Given the description of an element on the screen output the (x, y) to click on. 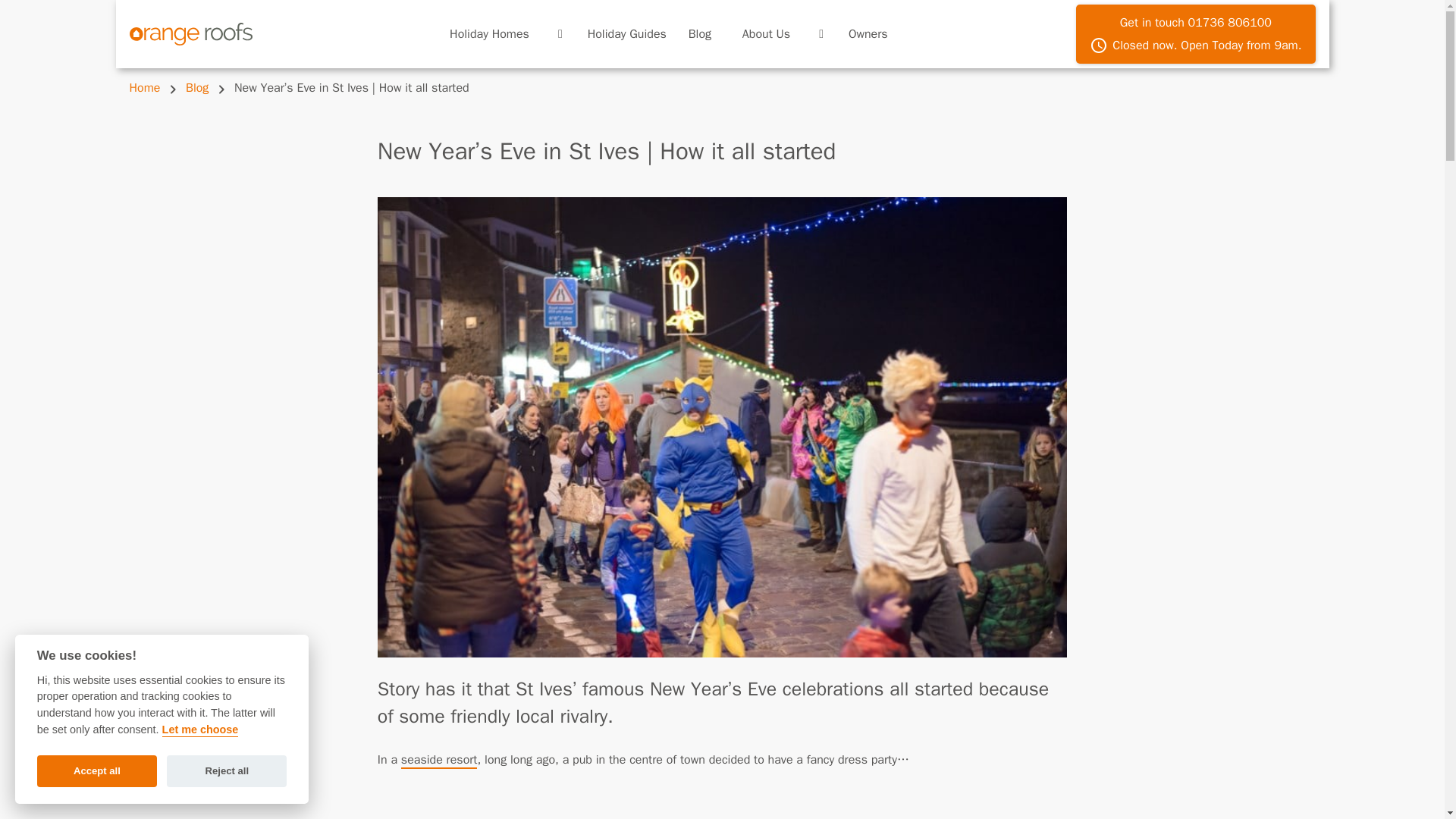
Owners (868, 33)
Holiday Guides (626, 33)
About Us (1194, 33)
Blog (766, 33)
Holiday Homes (699, 33)
